Given the description of an element on the screen output the (x, y) to click on. 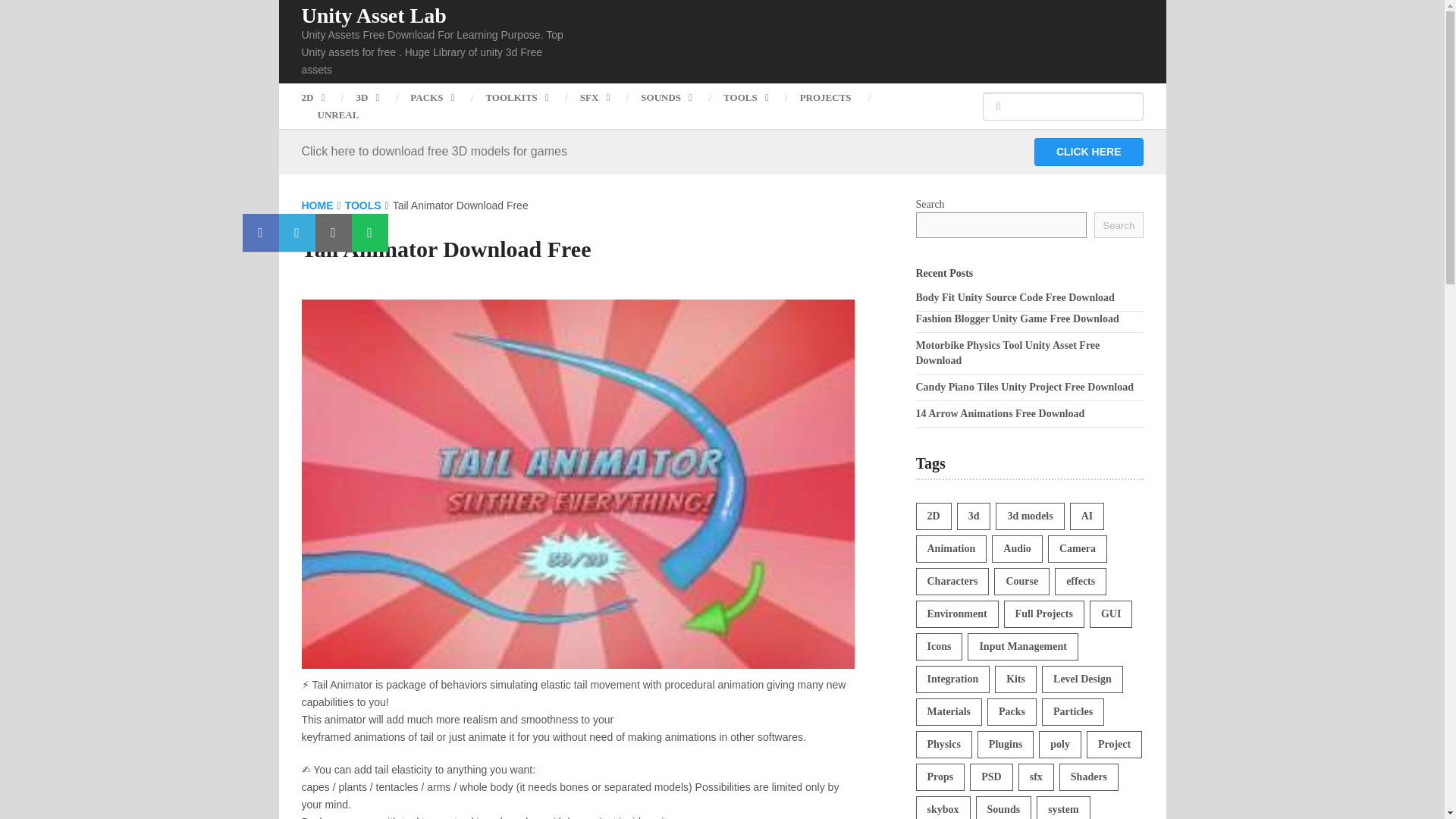
SFX (595, 97)
2D (320, 97)
Click Here (1087, 152)
TOOLS (745, 97)
SOUNDS (665, 97)
Unity Asset Lab (373, 14)
PACKS (431, 97)
3D (366, 97)
TOOLKITS (515, 97)
